Given the description of an element on the screen output the (x, y) to click on. 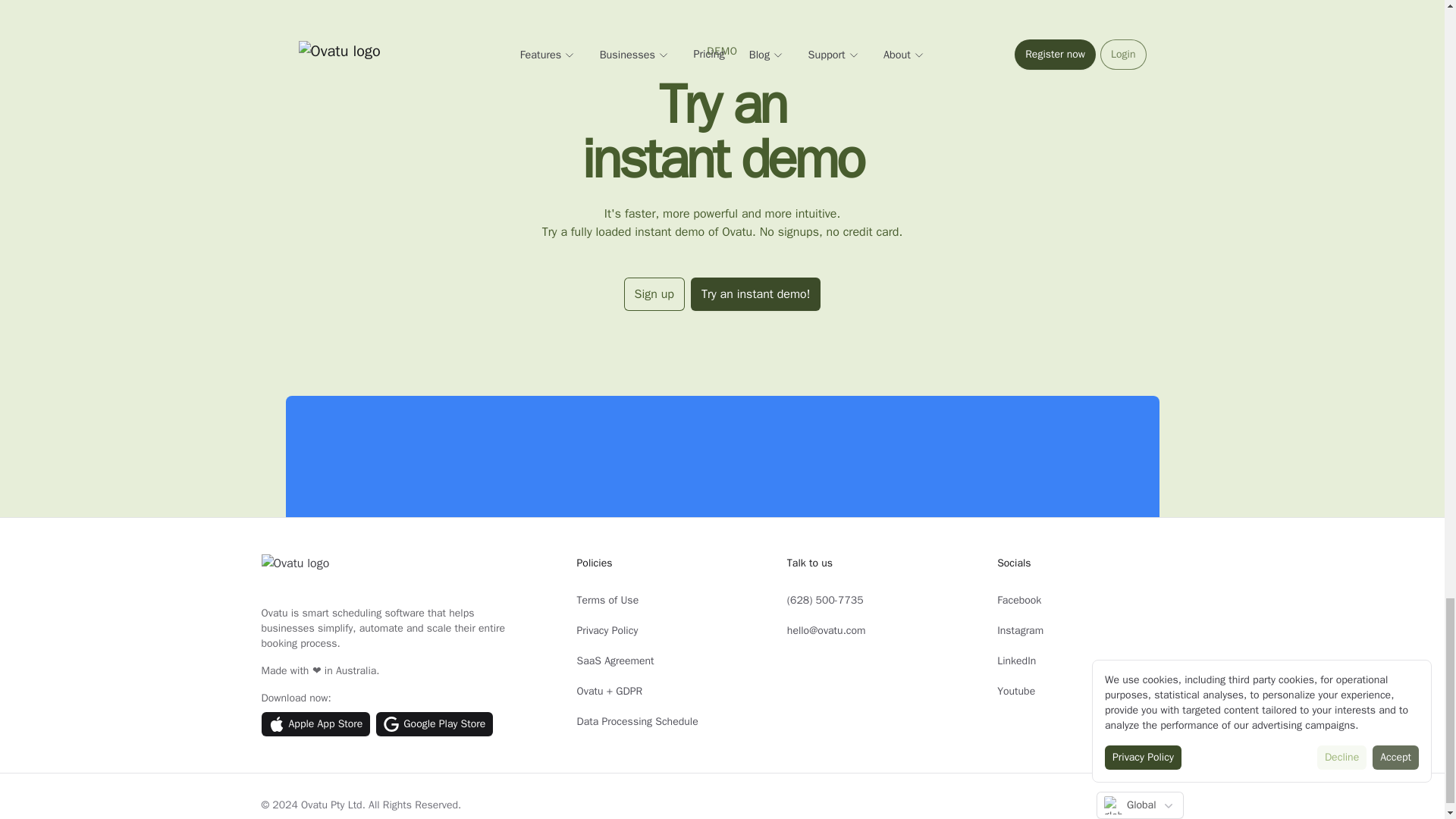
SaaS Agreement (614, 660)
Sign up (654, 294)
Facebook (1019, 599)
Data Processing Schedule (636, 721)
LinkedIn (1016, 660)
Try an instant demo! (755, 294)
Instagram (1020, 630)
Apple App Store (314, 723)
Terms of Use (607, 599)
Youtube (1016, 690)
Google Play Store (434, 723)
Privacy Policy (606, 630)
